Given the description of an element on the screen output the (x, y) to click on. 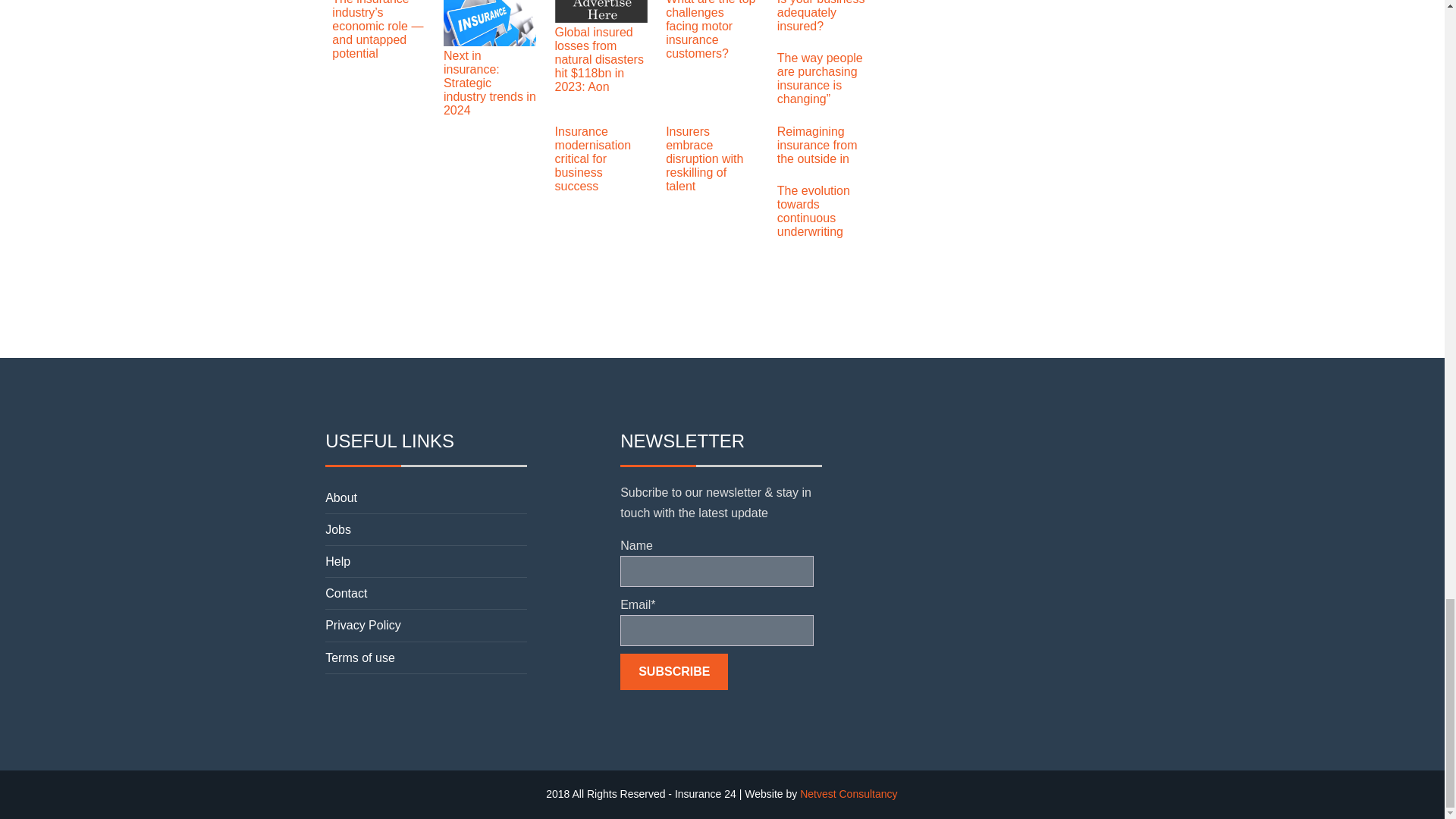
Subscribe (674, 671)
Next in insurance: Strategic industry trends in 2024 (489, 83)
Next in insurance: Strategic industry trends in 2024 (489, 42)
